Given the description of an element on the screen output the (x, y) to click on. 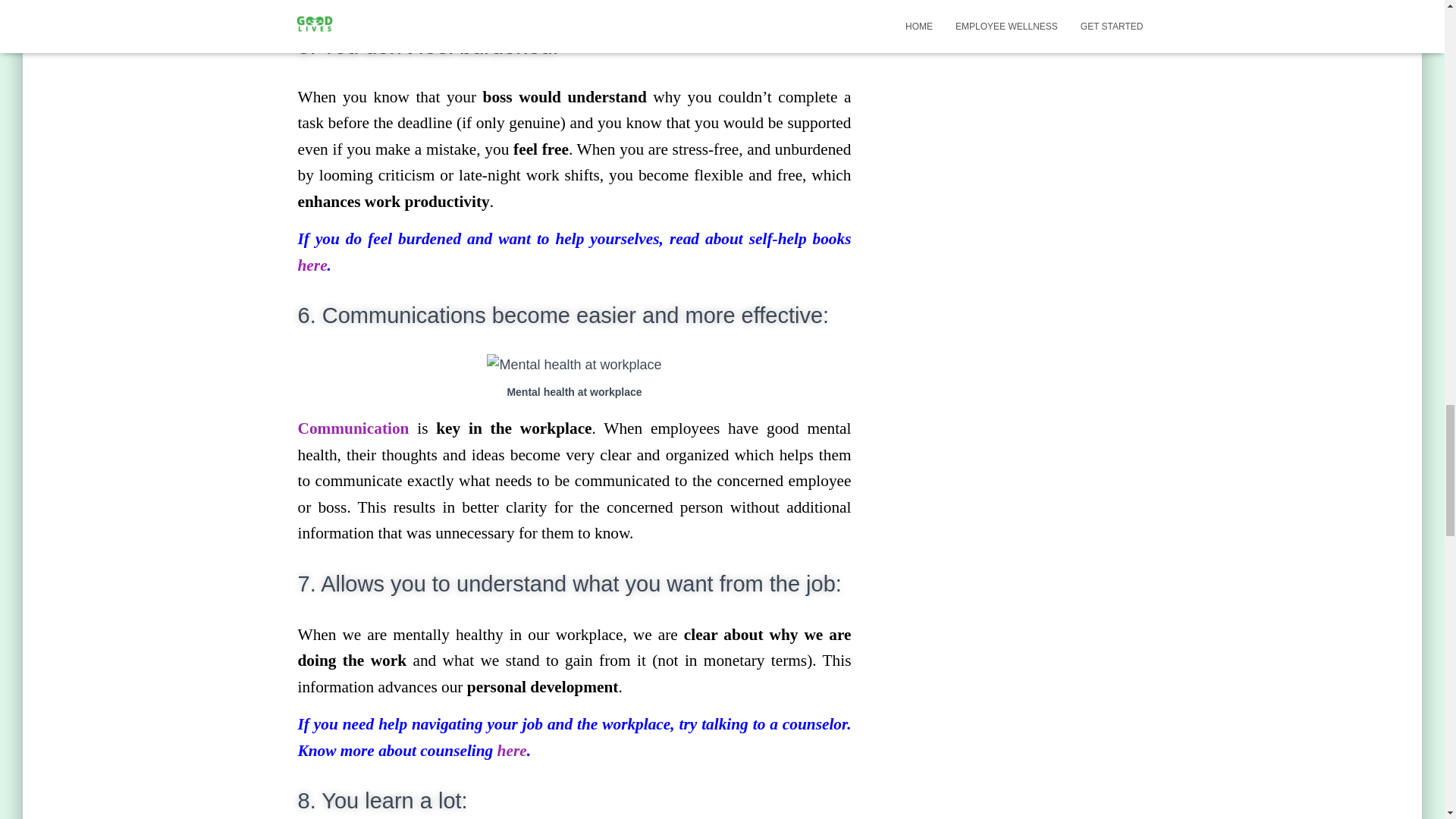
here (512, 751)
here (311, 265)
Communication (356, 428)
mental health at workplace article- 4 (573, 364)
